Given the description of an element on the screen output the (x, y) to click on. 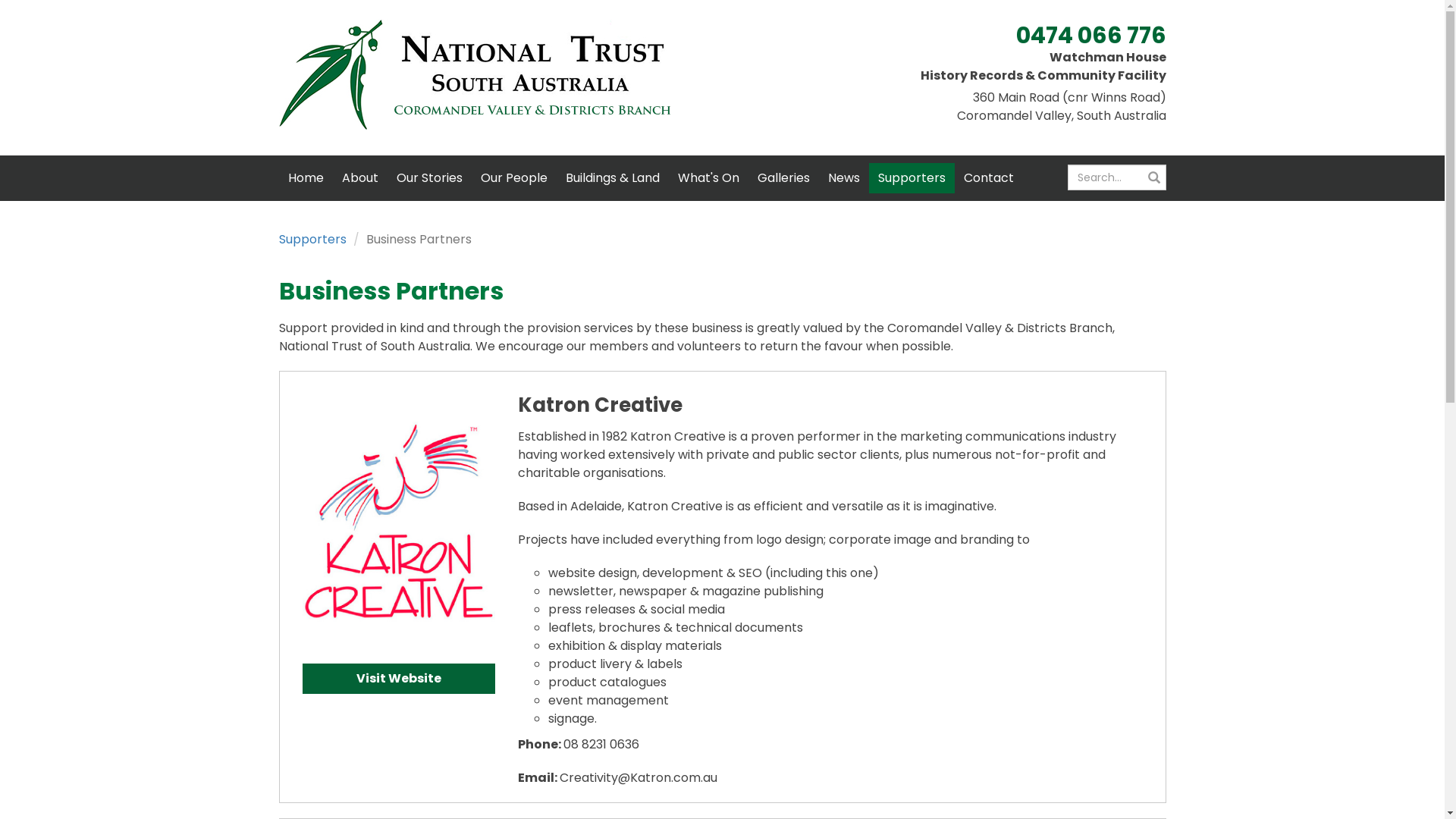
Supporters Element type: text (911, 178)
Visit Website Element type: text (398, 678)
Home
(current) Element type: text (305, 178)
What's On Element type: text (708, 178)
Our People Element type: text (513, 178)
Supporters Element type: text (312, 238)
About Element type: text (359, 178)
Contact Element type: text (987, 178)
News Element type: text (844, 178)
Our Stories Element type: text (428, 178)
Galleries Element type: text (782, 178)
Buildings & Land Element type: text (612, 178)
